Given the description of an element on the screen output the (x, y) to click on. 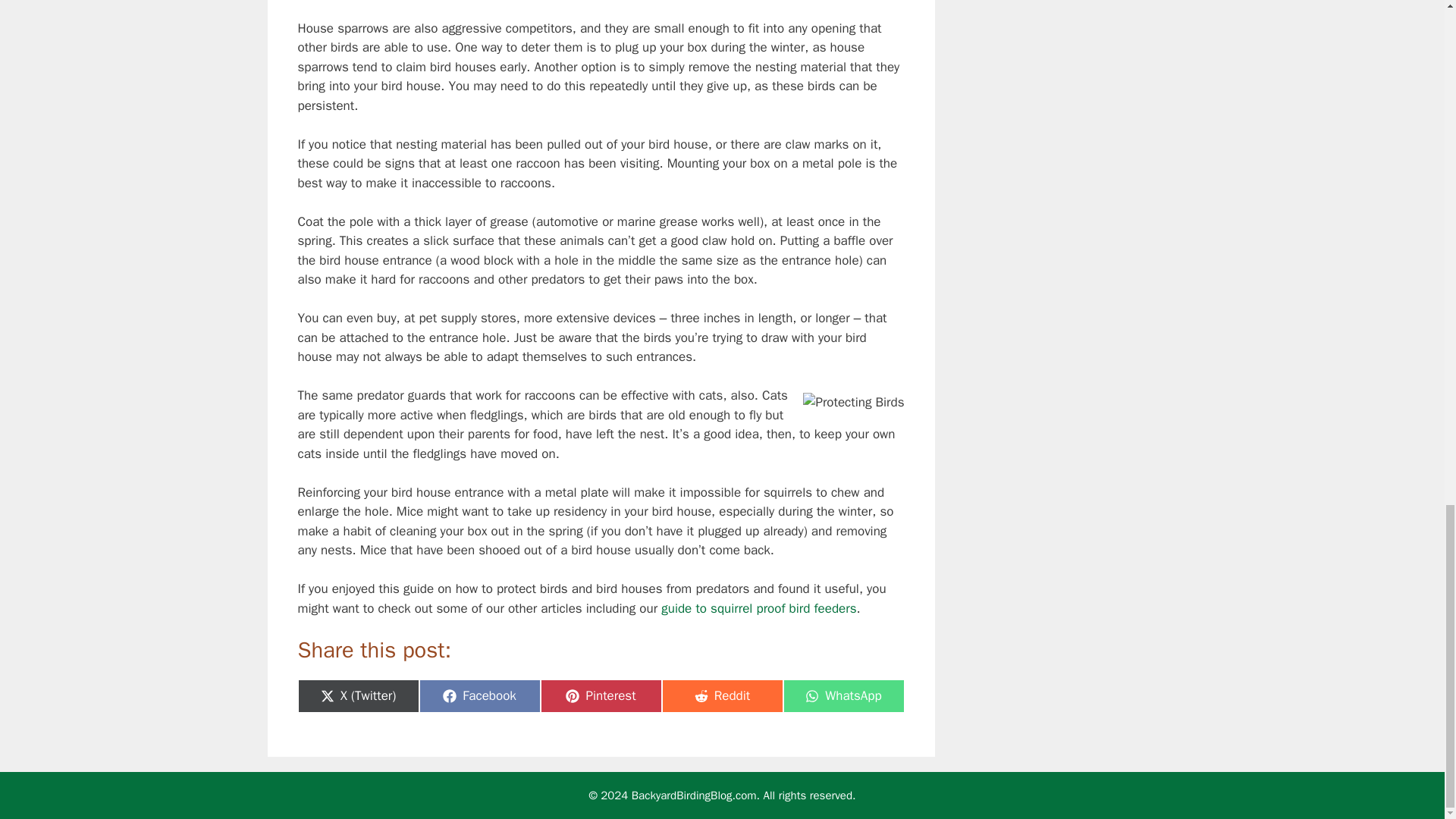
guide to squirrel proof bird feeders (600, 695)
Squirrel Proof Bird Feeders (722, 695)
